Given the description of an element on the screen output the (x, y) to click on. 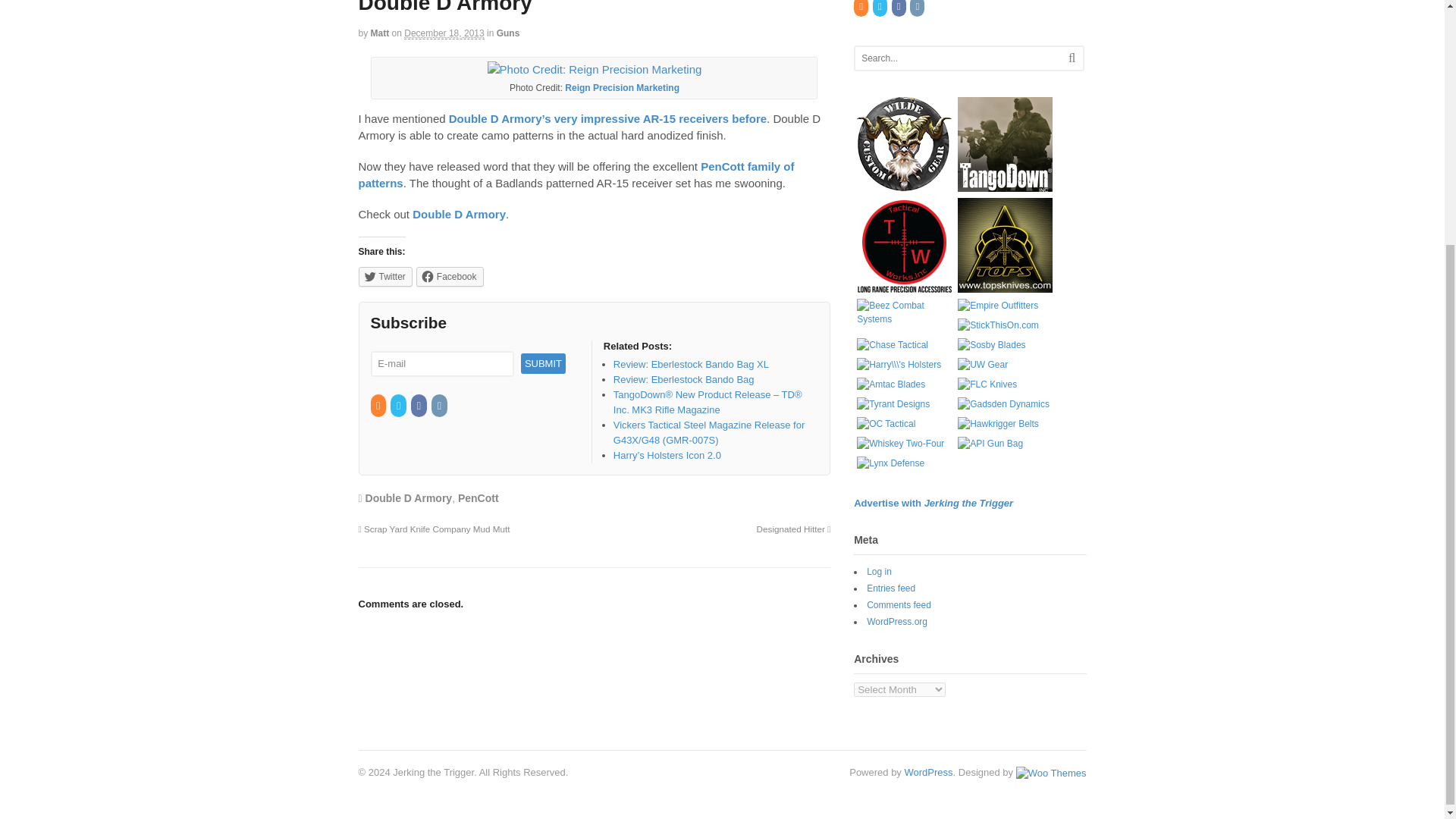
Review: Eberlestock Bando Bag (683, 378)
Facebook (419, 405)
Designated Hitter (794, 528)
View all items in Guns (507, 32)
Submit (543, 362)
Double D Armory Camo Anodized AR-15 Receivers (607, 118)
Review: Eberlestock Bando Bag XL (690, 364)
Matt (380, 32)
Double D Armory (458, 214)
Review: Eberlestock Bando Bag (683, 378)
